Given the description of an element on the screen output the (x, y) to click on. 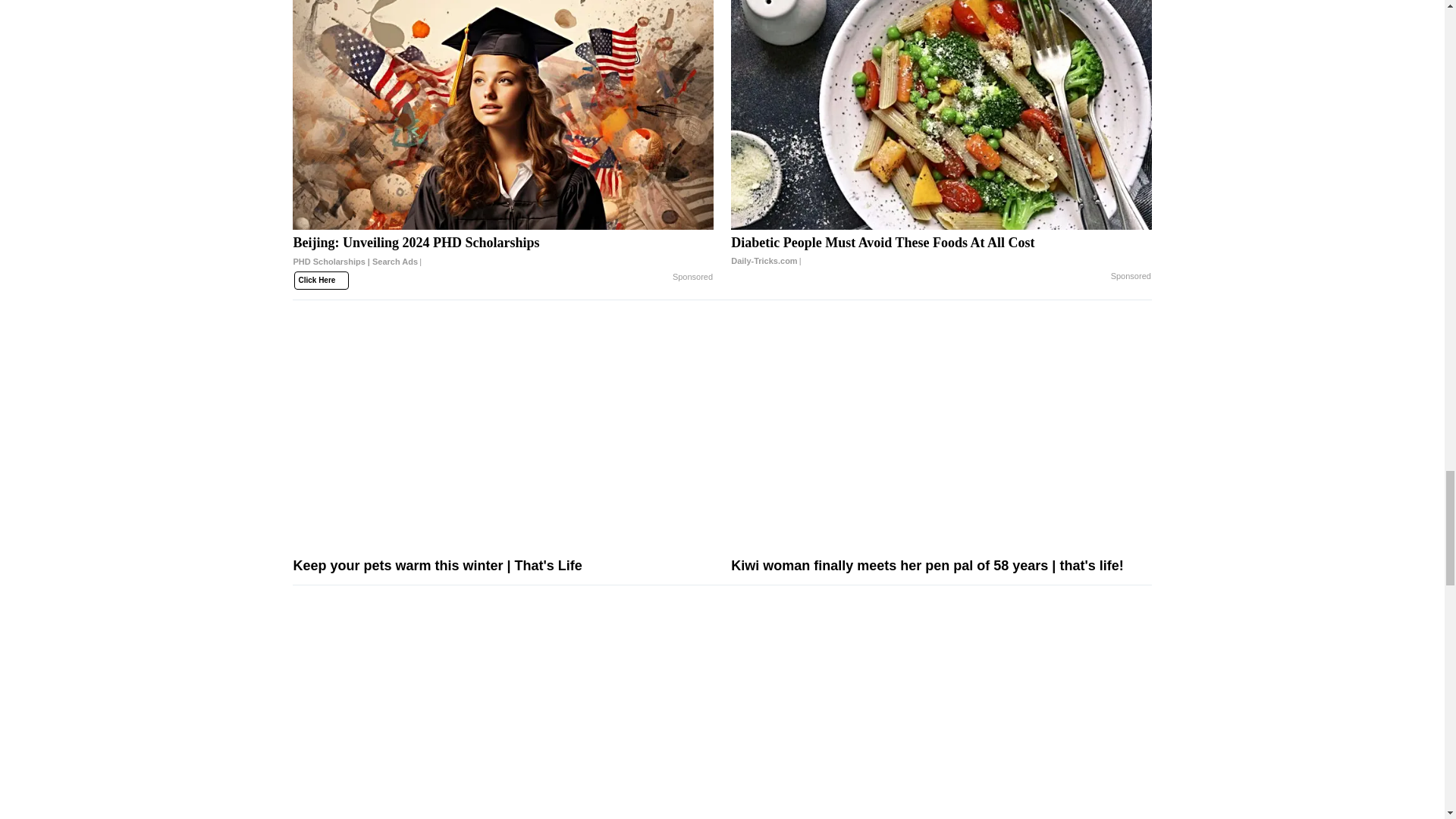
Beijing: Unveiling 2024 PHD Scholarships (502, 257)
Beijing: Unveiling 2024 PHD Scholarships (502, 115)
